Given the description of an element on the screen output the (x, y) to click on. 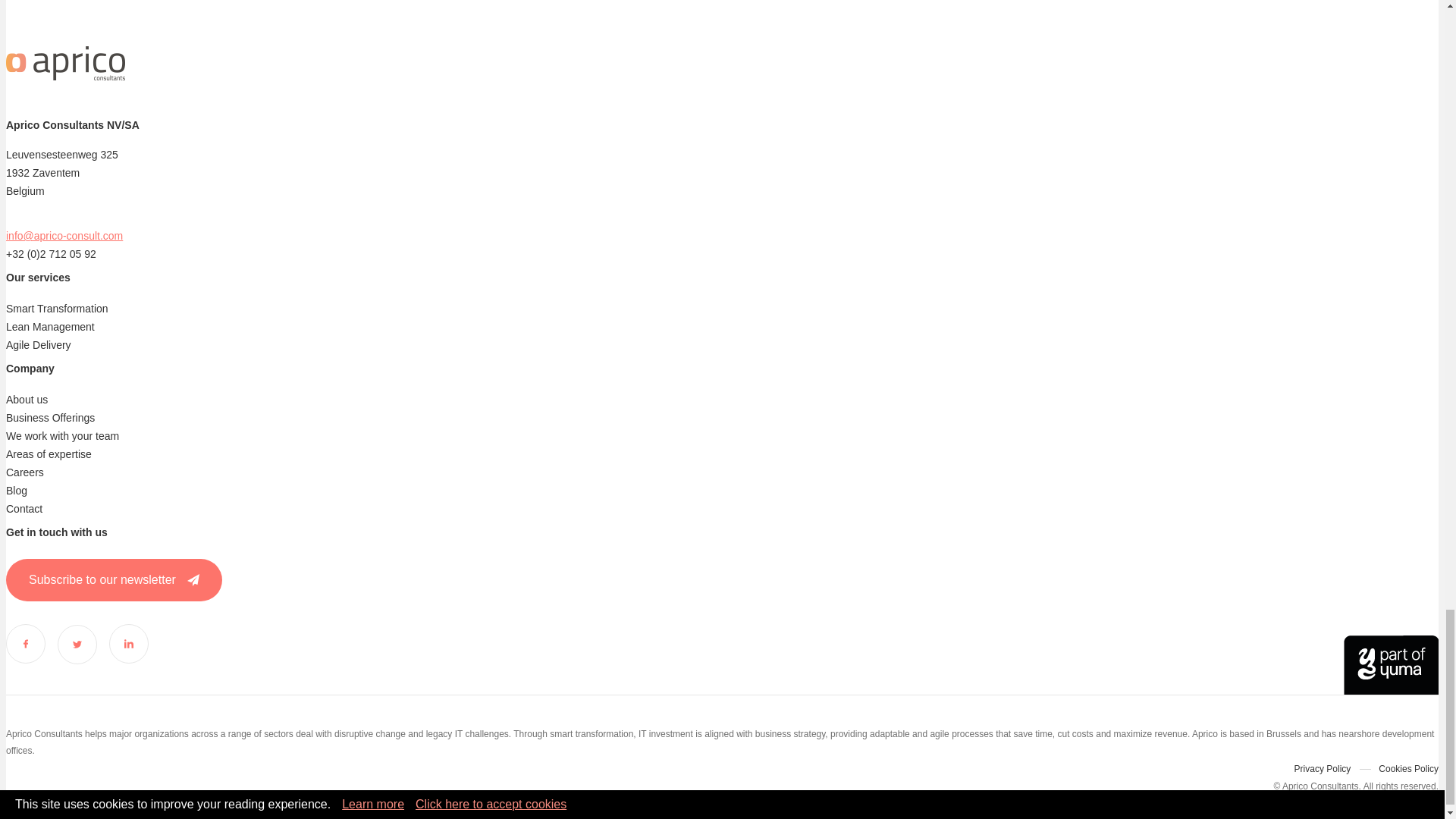
Agile Delivery (38, 345)
Smart Transformation (56, 308)
Lean Management (49, 326)
